Given the description of an element on the screen output the (x, y) to click on. 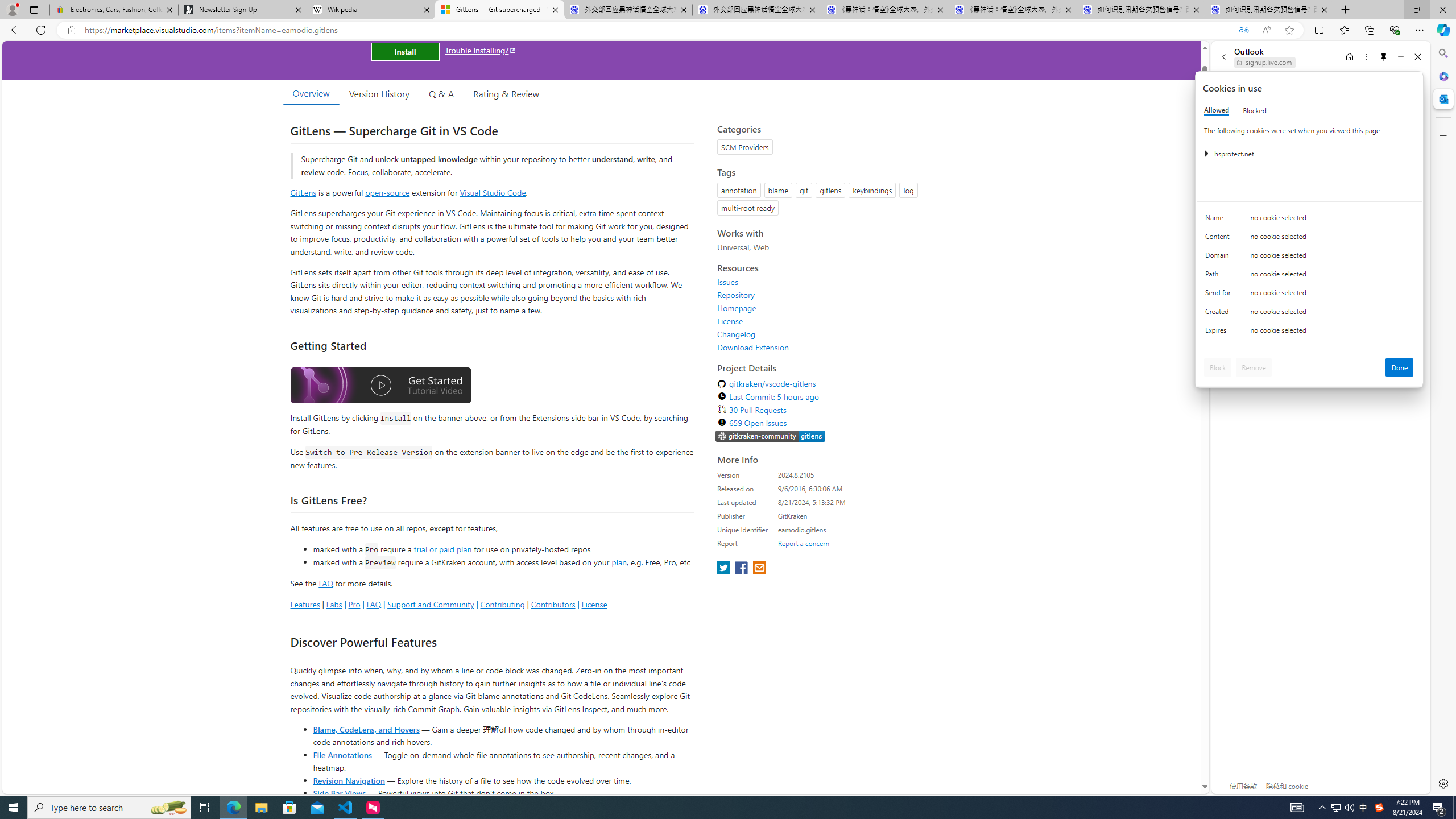
Remove (1253, 367)
Domain (1219, 257)
Content (1219, 239)
Class: c0153 c0157 c0154 (1309, 220)
no cookie selected (1331, 332)
Allowed (1216, 110)
Blocked (1255, 110)
Name (1219, 220)
Block (1217, 367)
Done (1399, 367)
Class: c0153 c0157 (1309, 332)
Send for (1219, 295)
Expires (1219, 332)
Path (1219, 276)
Created (1219, 313)
